Given the description of an element on the screen output the (x, y) to click on. 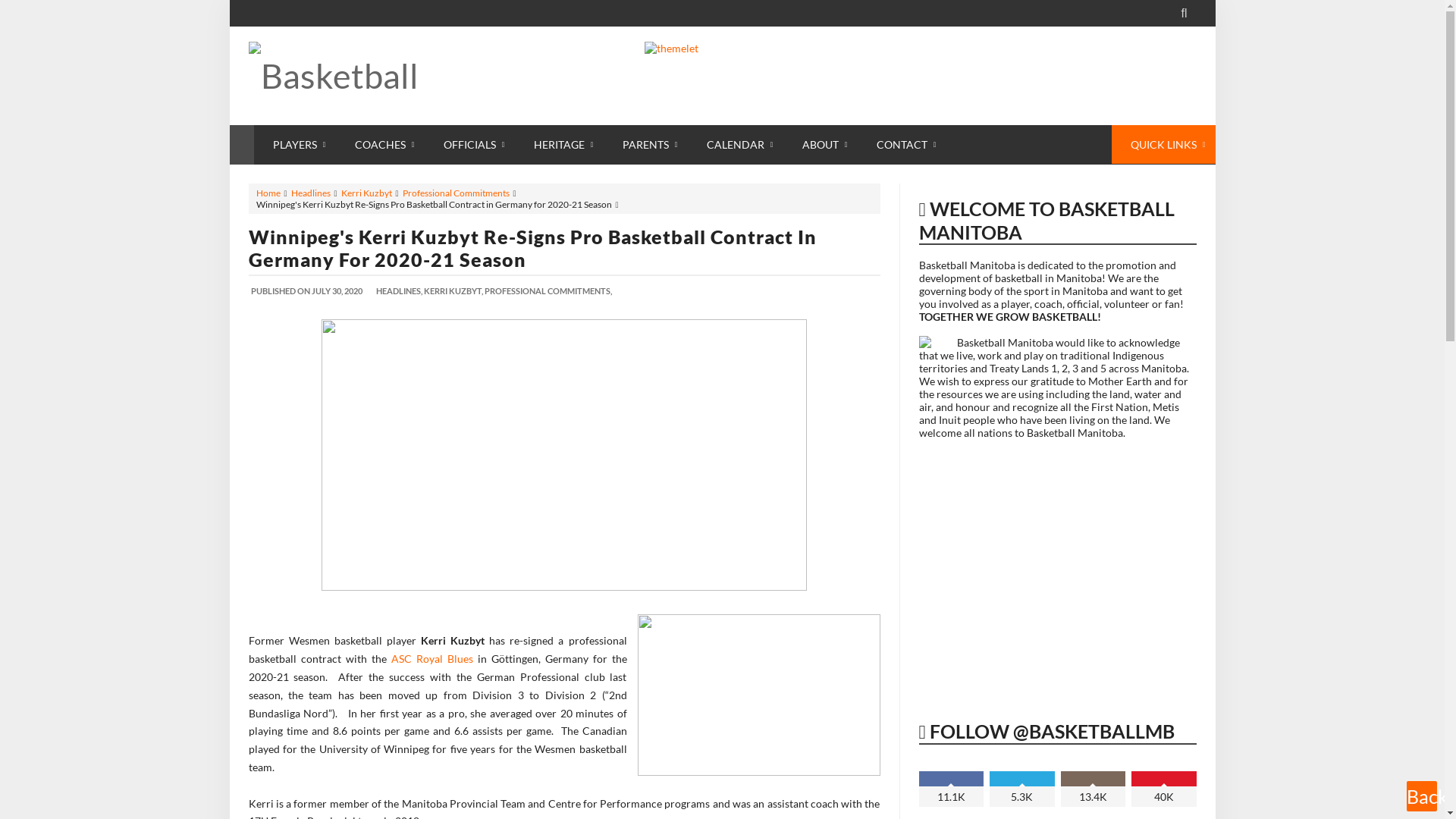
ABOUT Element type: text (819, 144)
Professional Commitments Element type: text (455, 192)
CONTACT Element type: text (900, 144)
ASC Royal Blues Element type: text (432, 658)
40K Element type: text (1163, 788)
PROFESSIONAL COMMITMENTS, Element type: text (547, 290)
Basketball Manitoba Element type: text (362, 75)
Headlines Element type: text (310, 192)
QUICK LINKS Element type: text (1163, 144)
13.4K Element type: text (1092, 788)
KERRI KUZBYT, Element type: text (452, 290)
PLAYERS Element type: text (294, 144)
11.1K Element type: text (951, 788)
CALENDAR Element type: text (734, 144)
COACHES Element type: text (379, 144)
OFFICIALS Element type: text (469, 144)
Home Element type: text (268, 192)
HEADLINES, Element type: text (399, 290)
HERITAGE Element type: text (558, 144)
Kerri Kuzbyt Element type: text (366, 192)
PARENTS Element type: text (645, 144)
JULY 30, 2020 Element type: text (338, 290)
5.3K Element type: text (1021, 788)
